Given the description of an element on the screen output the (x, y) to click on. 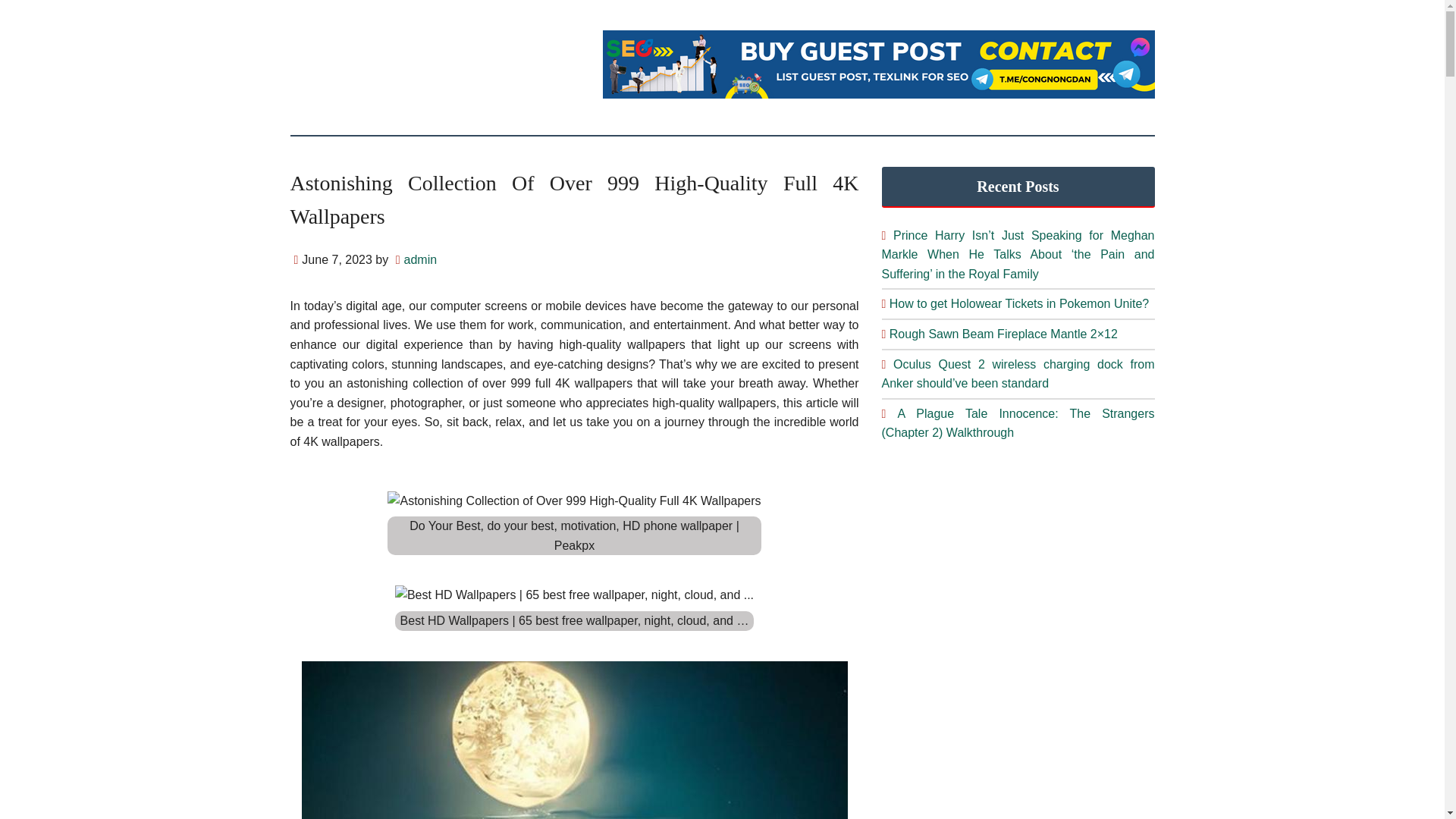
admin (421, 259)
How to get Holowear Tickets in Pokemon Unite? (1018, 303)
